Given the description of an element on the screen output the (x, y) to click on. 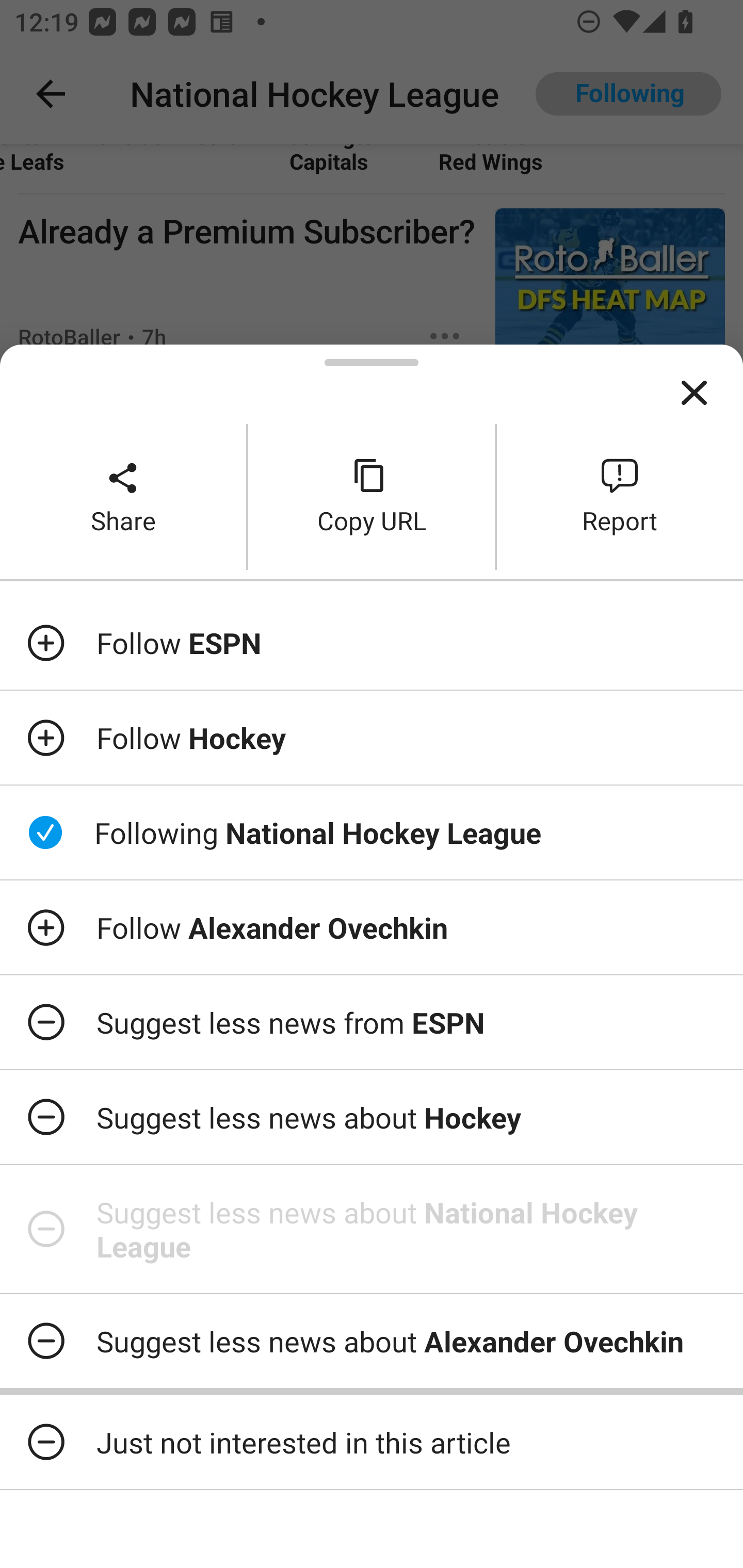
Close (694, 392)
Share (122, 496)
Copy URL (371, 496)
Report (620, 496)
Follow ESPN (371, 642)
Follow Hockey (371, 736)
Following National Hockey League (371, 832)
Follow Alexander Ovechkin (371, 927)
Suggest less news from ESPN (371, 1022)
Suggest less news about Hockey (371, 1116)
Suggest less news about Alexander Ovechkin (371, 1340)
Just not interested in this article (371, 1442)
